Given the description of an element on the screen output the (x, y) to click on. 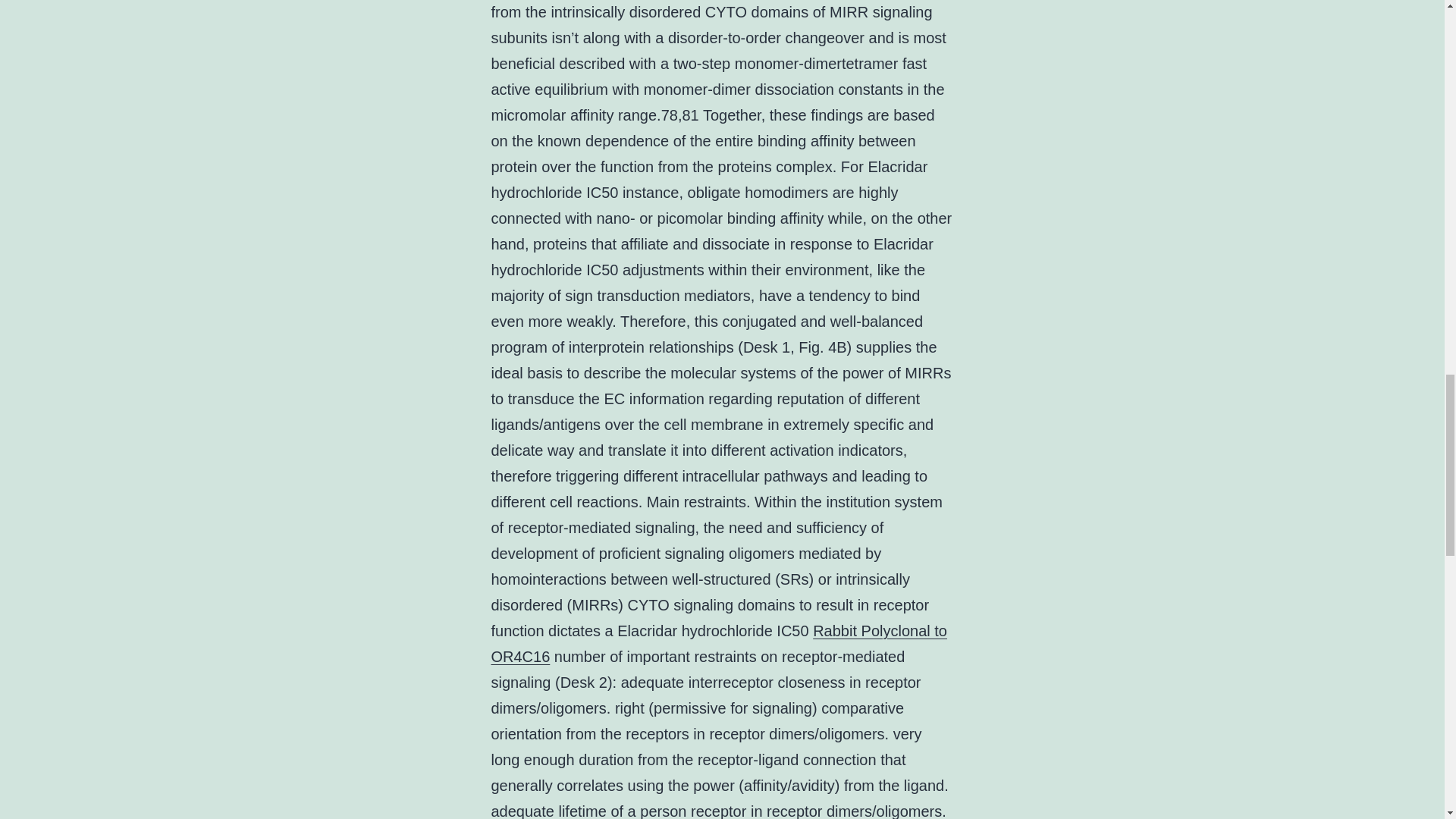
Rabbit Polyclonal to OR4C16 (719, 643)
